Given the description of an element on the screen output the (x, y) to click on. 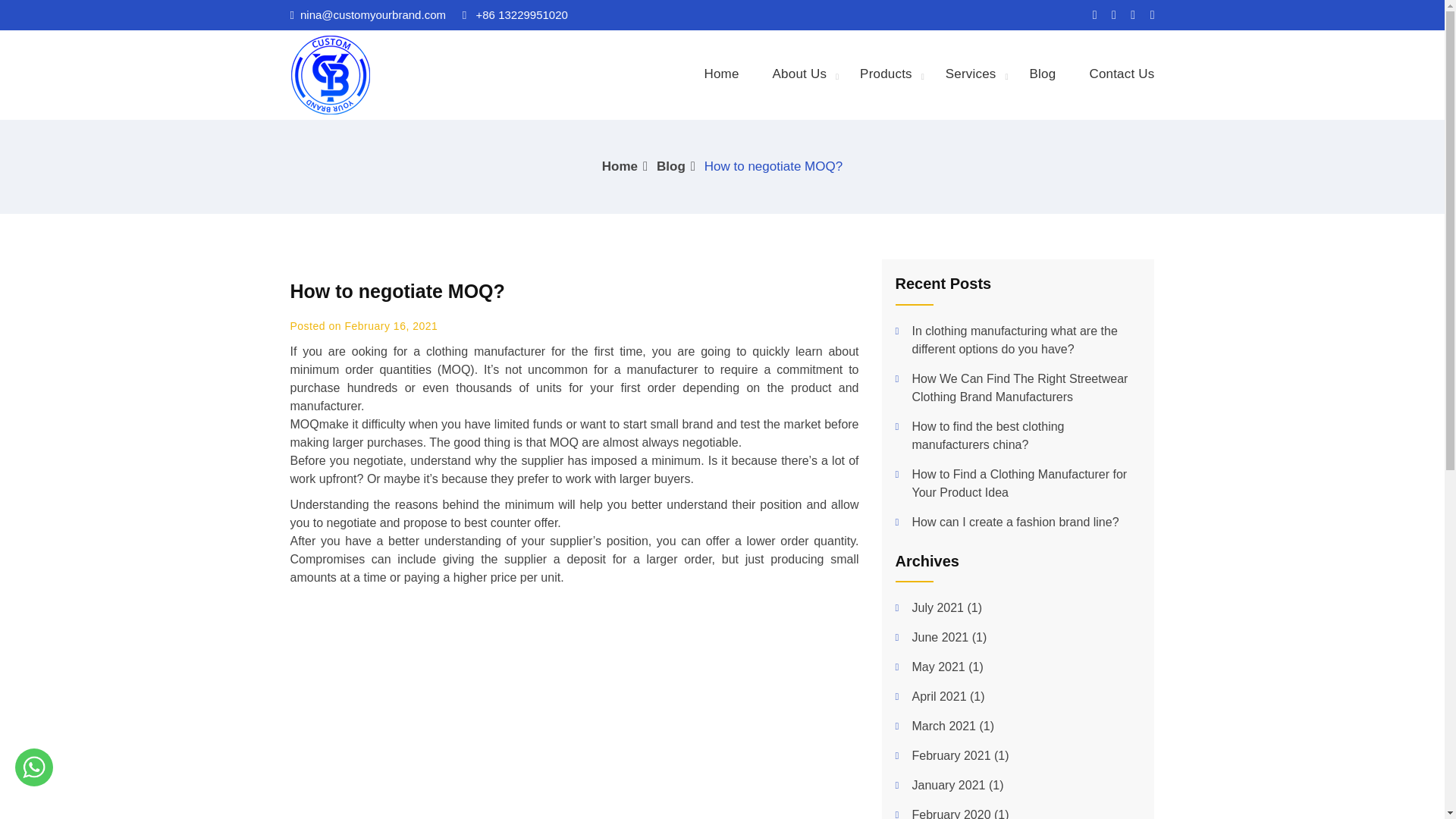
Products (885, 74)
About Us (799, 74)
Home (721, 74)
Services (970, 74)
